Given the description of an element on the screen output the (x, y) to click on. 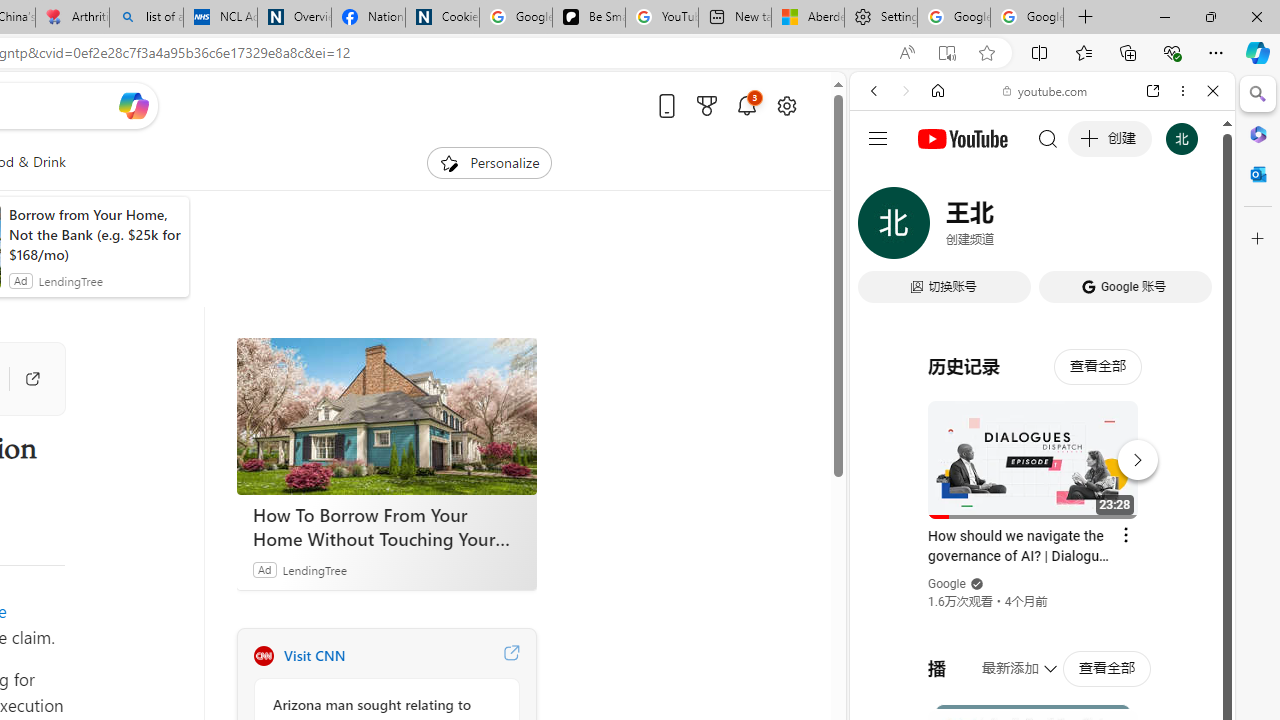
VIDEOS (1006, 228)
Borrow from Your Home, Not the Bank (e.g. $25k for $168/mo) (93, 234)
More options (1182, 91)
Arthritis: Ask Health Professionals (71, 17)
Microsoft 365 (1258, 133)
Search videos from youtube.com (1005, 657)
Search Filter, Search Tools (1093, 228)
CNN (263, 655)
SEARCH TOOLS (1093, 228)
Visit CNN website (511, 655)
Class: b_serphb (1190, 229)
